Given the description of an element on the screen output the (x, y) to click on. 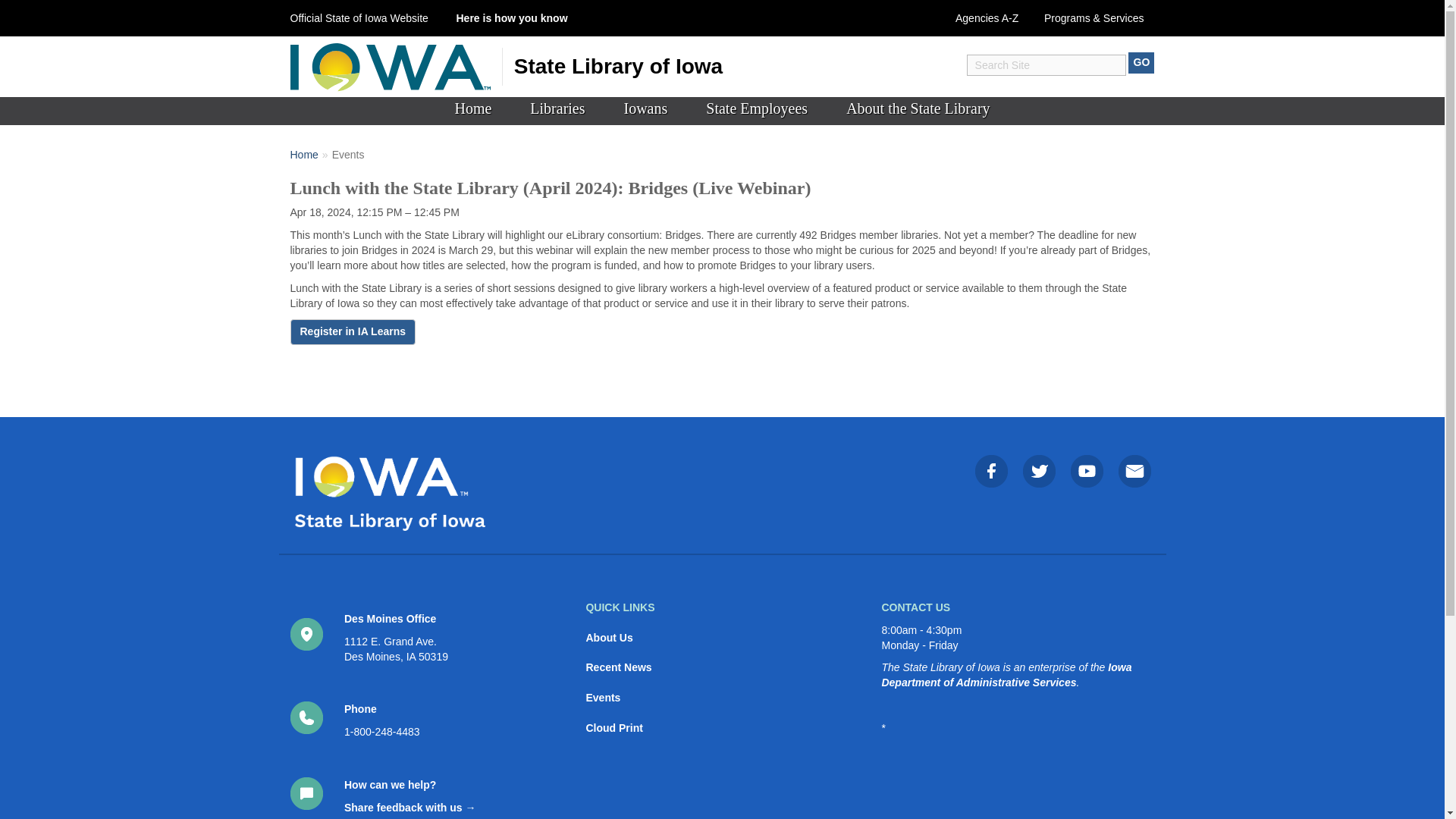
Go (1141, 62)
Go (1141, 62)
